Given the description of an element on the screen output the (x, y) to click on. 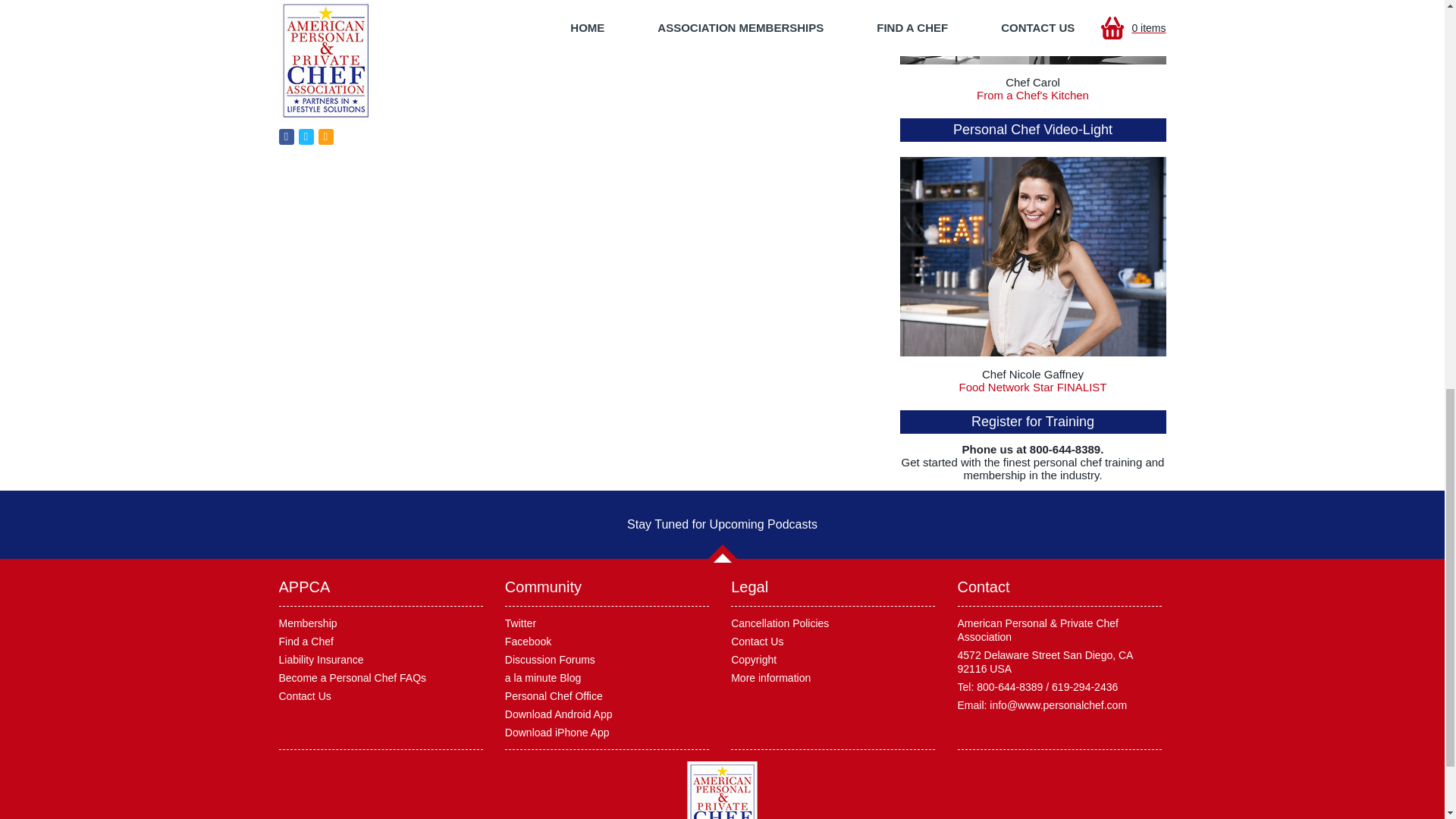
From a Chef's Kitchen (1032, 94)
buy Adderall (310, 31)
Twitter (520, 623)
buy tramadols (314, 8)
Discussion Forums (550, 659)
Facebook (528, 641)
Register for Training (1032, 421)
Membership (308, 623)
buy Xanax (306, 53)
Liability Insurance (321, 659)
Contact Us (305, 695)
Become a Personal Chef FAQs (352, 677)
Food Network Star FINALIST (1032, 386)
Find a Chef (306, 641)
